Given the description of an element on the screen output the (x, y) to click on. 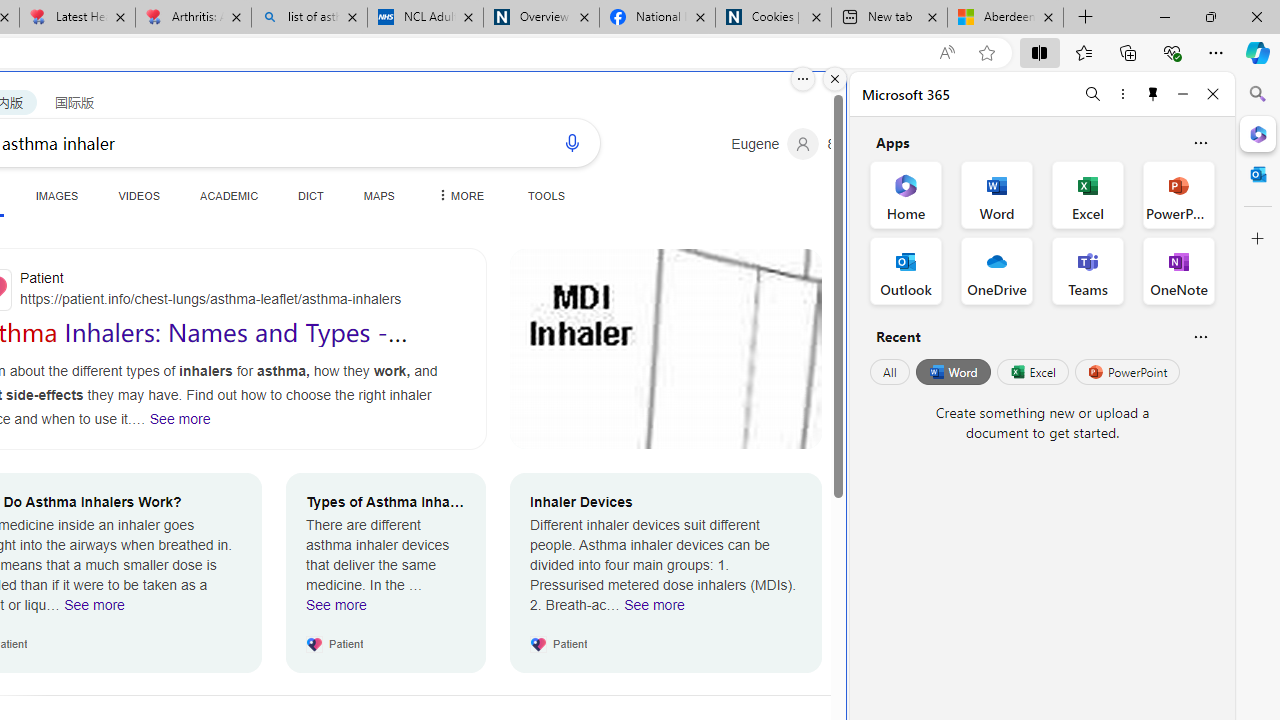
Excel Office App (1087, 194)
Is this helpful? (1200, 336)
